Given the description of an element on the screen output the (x, y) to click on. 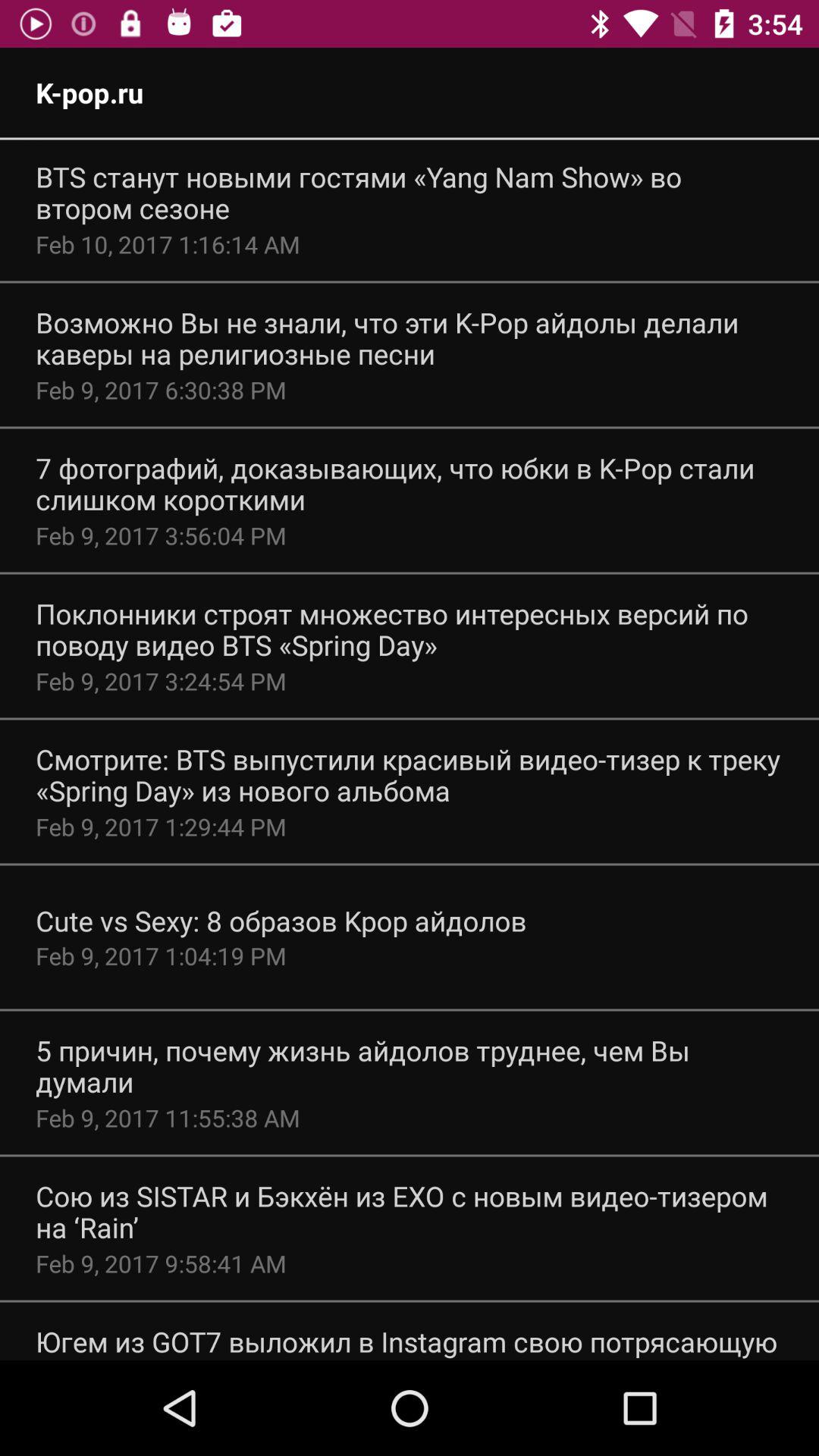
turn off the app above feb 10 2017 item (409, 193)
